Given the description of an element on the screen output the (x, y) to click on. 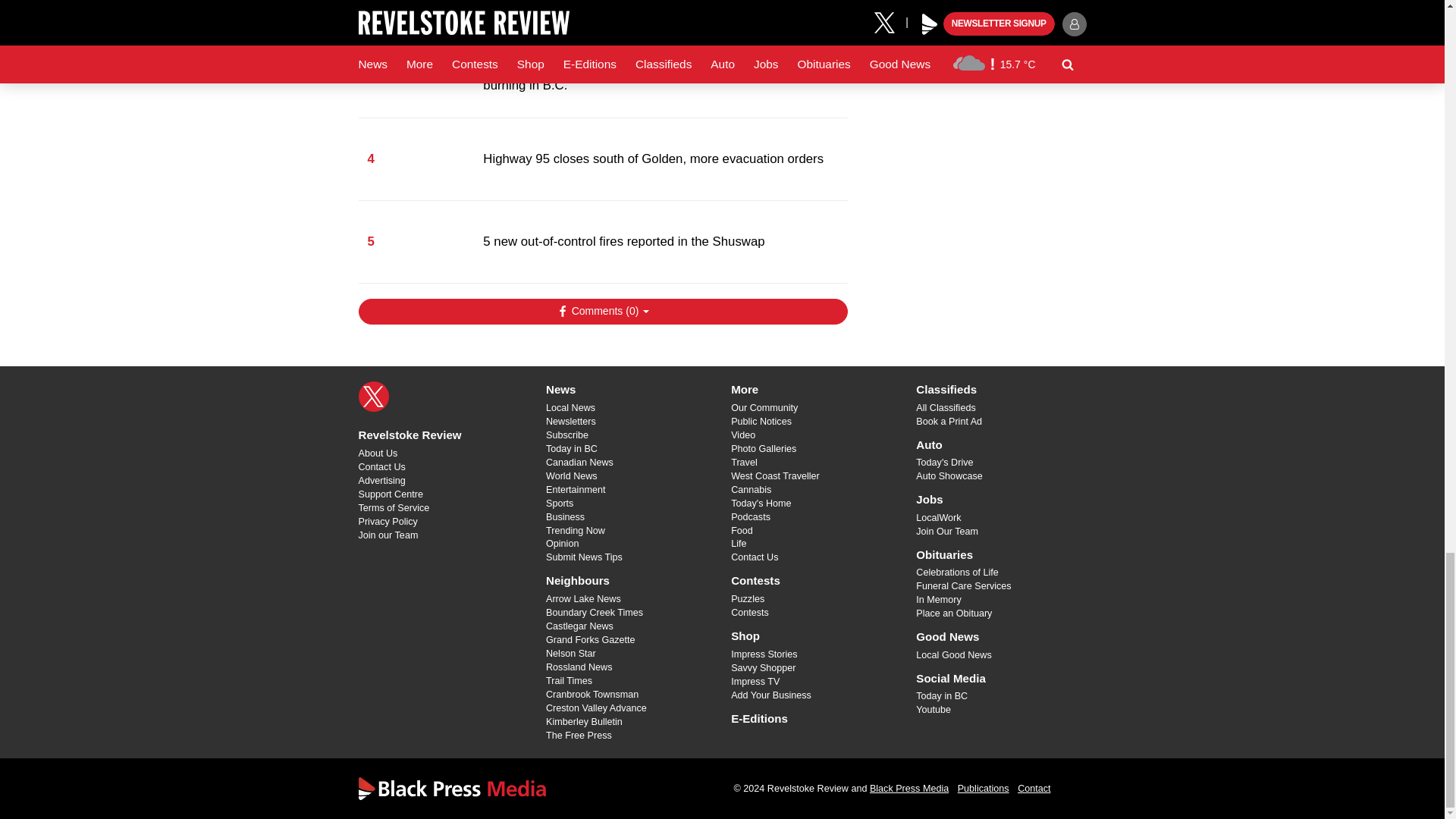
X (373, 396)
Show Comments (602, 311)
